Given the description of an element on the screen output the (x, y) to click on. 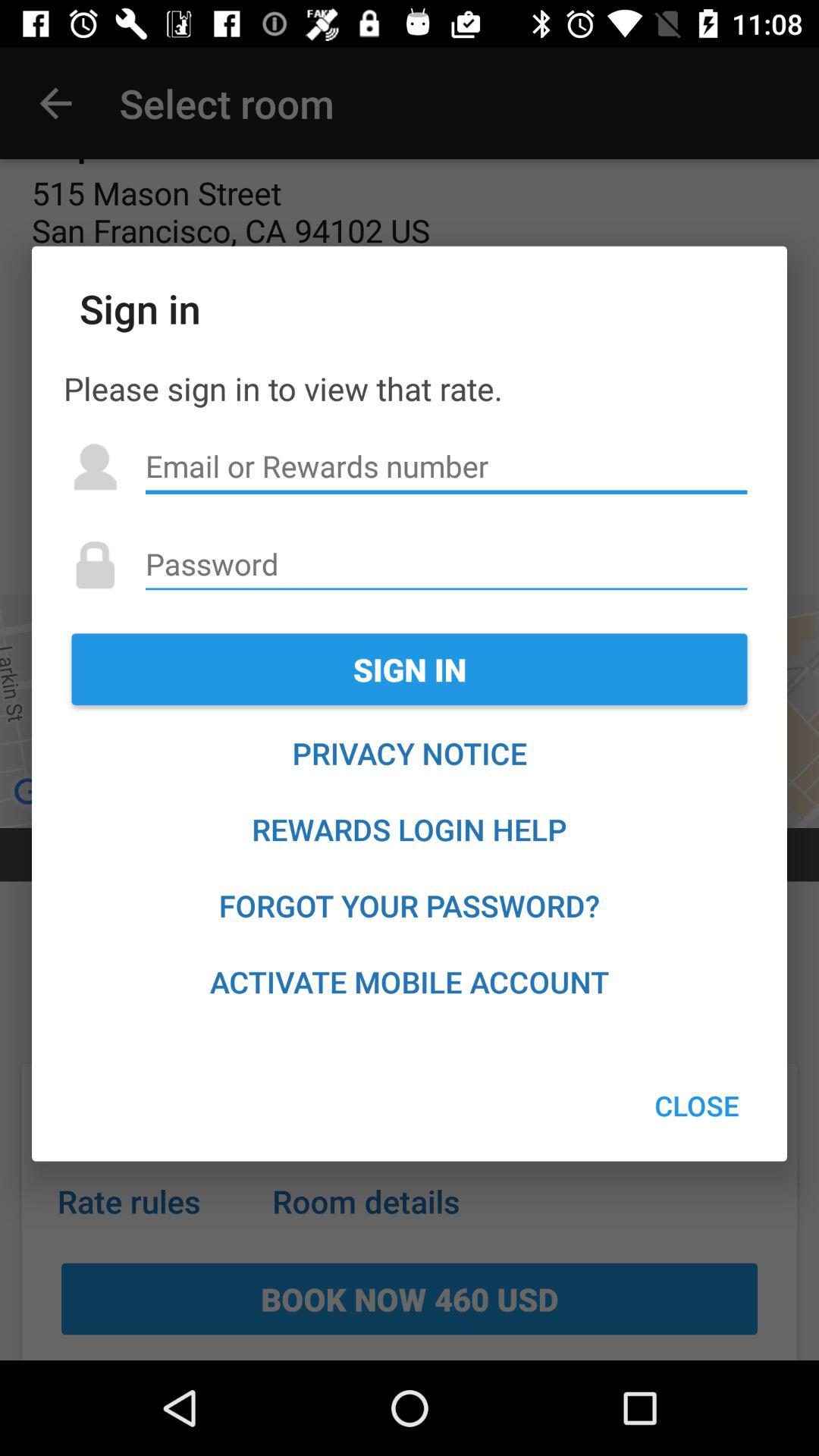
turn off the icon below privacy notice icon (409, 829)
